Given the description of an element on the screen output the (x, y) to click on. 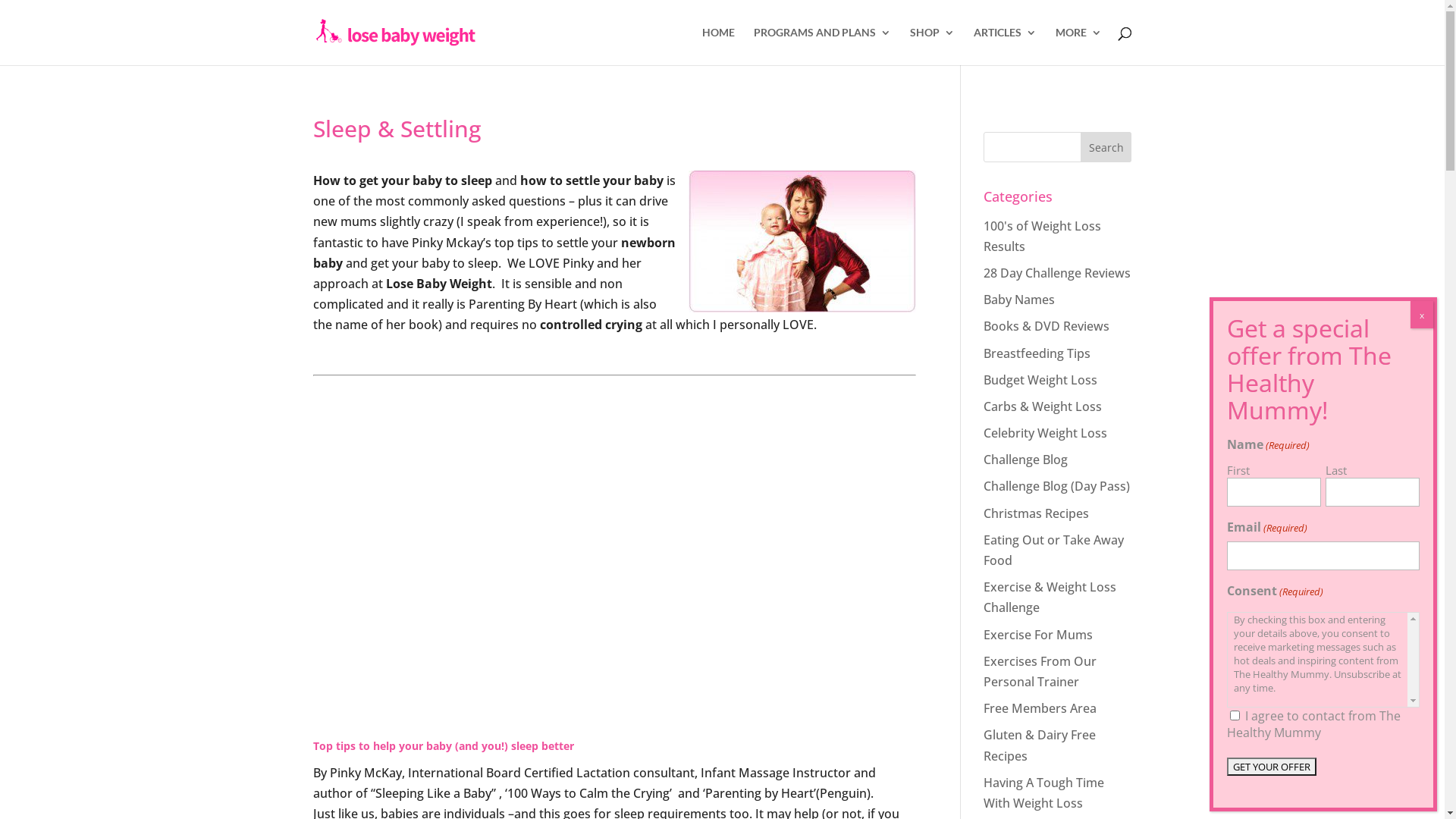
Having A Tough Time With Weight Loss Element type: text (1043, 792)
SHOP Element type: text (932, 46)
Carbs & Weight Loss Element type: text (1042, 406)
baby_sleep Element type: hover (802, 241)
Baby Names Element type: text (1018, 299)
Budget Weight Loss Element type: text (1040, 379)
Search Element type: text (1106, 146)
HOME Element type: text (718, 46)
PROGRAMS AND PLANS Element type: text (822, 46)
Eating Out or Take Away Food Element type: text (1053, 549)
Exercise & Weight Loss Challenge Element type: text (1049, 596)
Books & DVD Reviews Element type: text (1046, 325)
GET YOUR OFFER Element type: text (1271, 766)
Free Members Area Element type: text (1039, 707)
ARTICLES Element type: text (1004, 46)
Challenge Blog (Day Pass) Element type: text (1056, 485)
Exercise For Mums Element type: text (1037, 634)
28 Day Challenge Reviews Element type: text (1056, 272)
Celebrity Weight Loss Element type: text (1045, 432)
x Element type: text (1421, 314)
Challenge Blog Element type: text (1025, 459)
Gluten & Dairy Free Recipes Element type: text (1039, 744)
Christmas Recipes Element type: text (1035, 513)
MORE Element type: text (1078, 46)
Exercises From Our Personal Trainer Element type: text (1039, 671)
100's of Weight Loss Results Element type: text (1042, 235)
Breastfeeding Tips Element type: text (1036, 353)
